Given the description of an element on the screen output the (x, y) to click on. 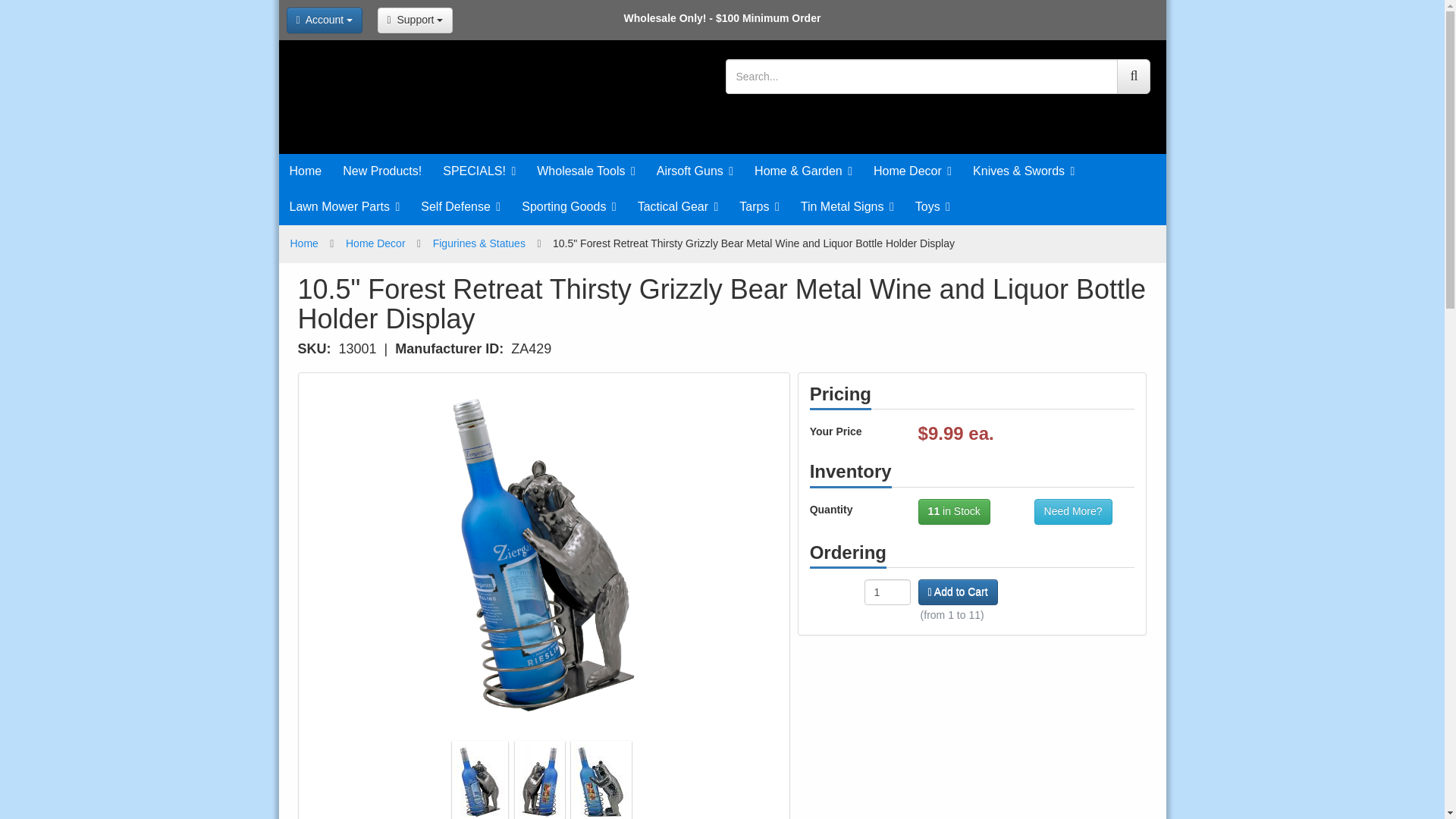
Specials! (478, 171)
Wholesale Tools (585, 171)
1 (887, 592)
  Account  (324, 20)
New Products! (381, 171)
Home (306, 171)
  Support  (414, 20)
SPECIALS! (478, 171)
